Given the description of an element on the screen output the (x, y) to click on. 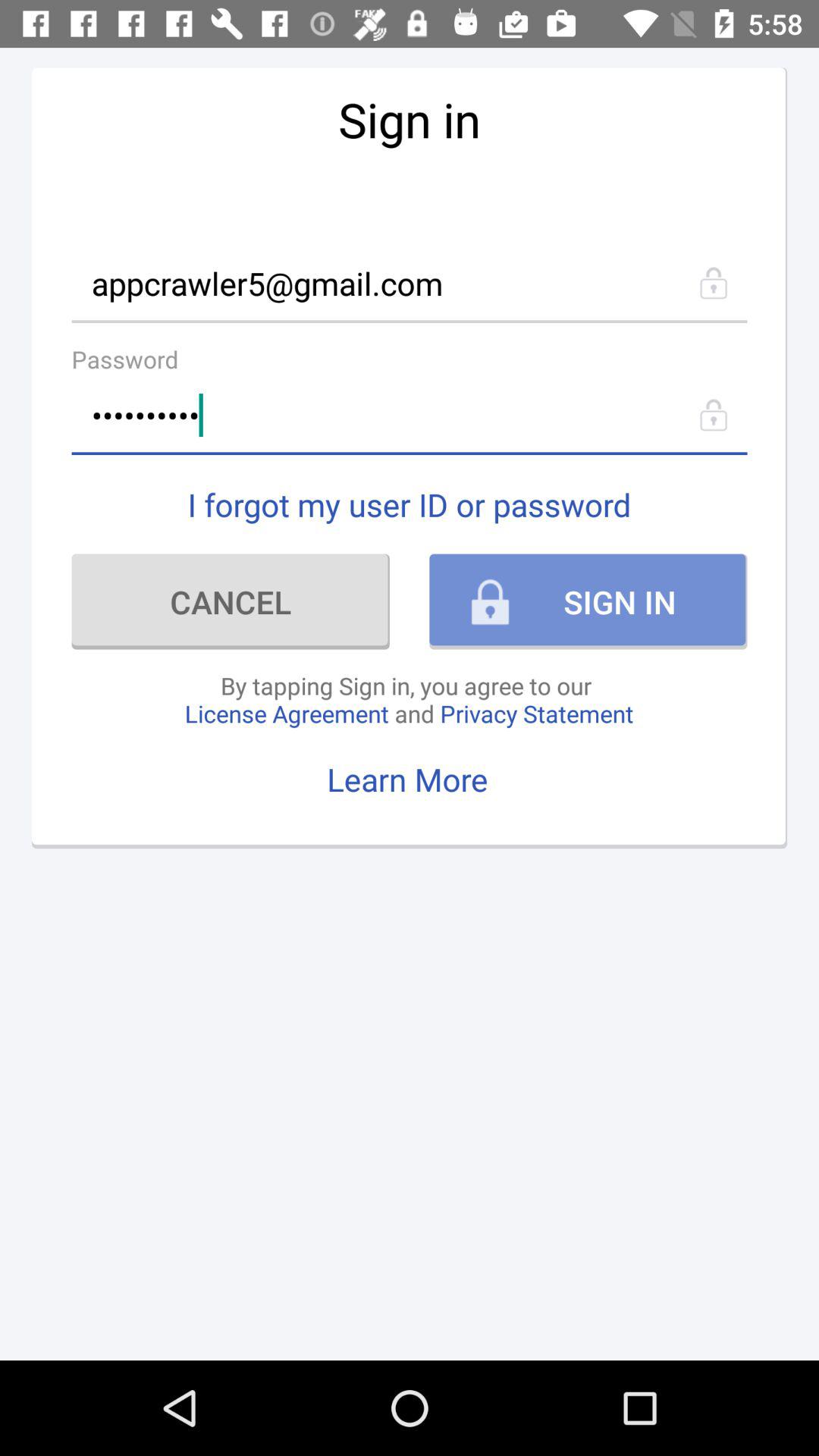
click the icon above the i forgot my icon (409, 415)
